Given the description of an element on the screen output the (x, y) to click on. 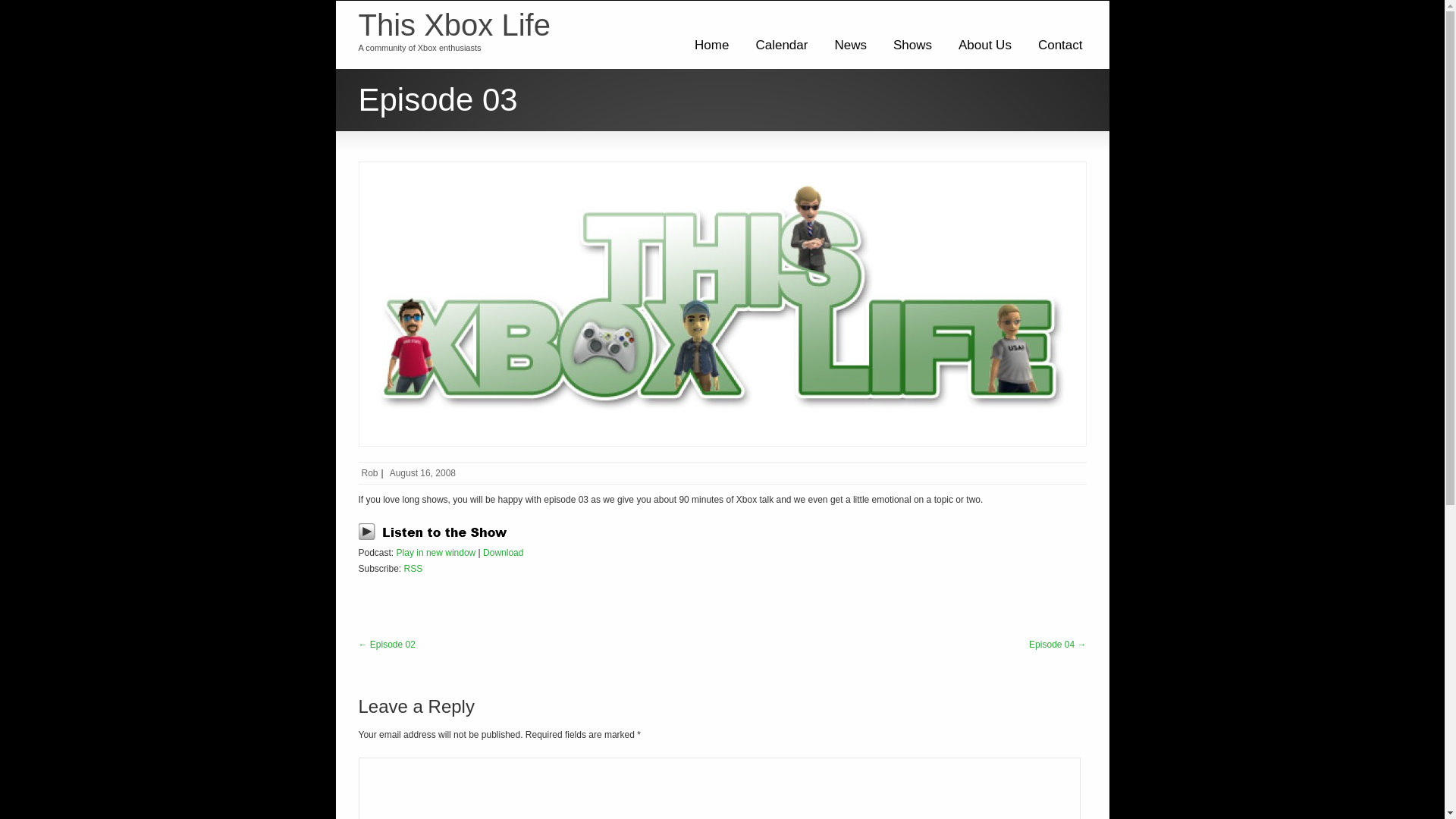
Calendar (781, 44)
Play (436, 537)
Download (502, 552)
Home (710, 44)
Subscribe via RSS (413, 568)
Download (502, 552)
About Us (985, 44)
Play in new window (436, 552)
RSS (413, 568)
